Given the description of an element on the screen output the (x, y) to click on. 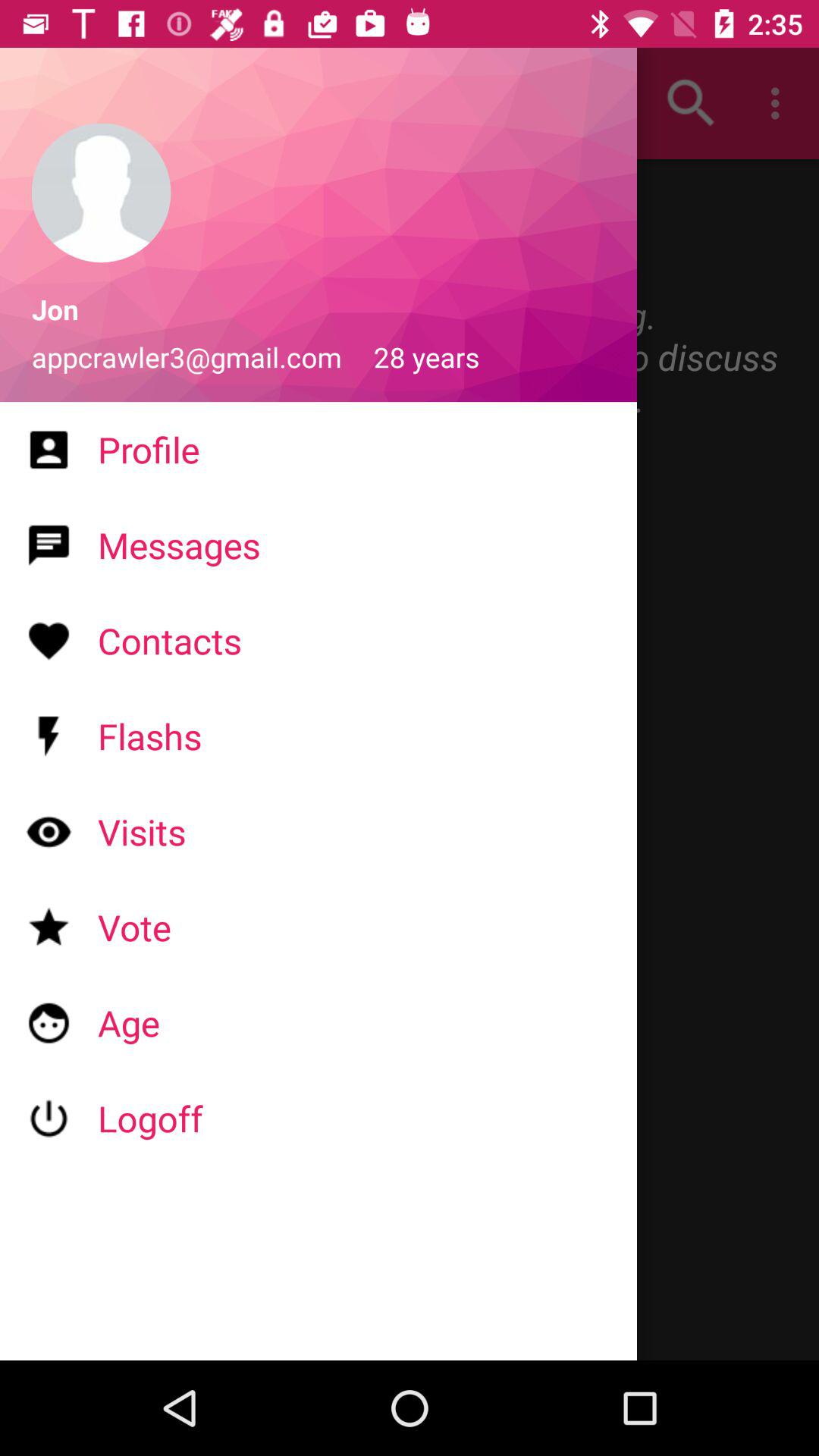
select the button with eye symbol (49, 832)
